Given the description of an element on the screen output the (x, y) to click on. 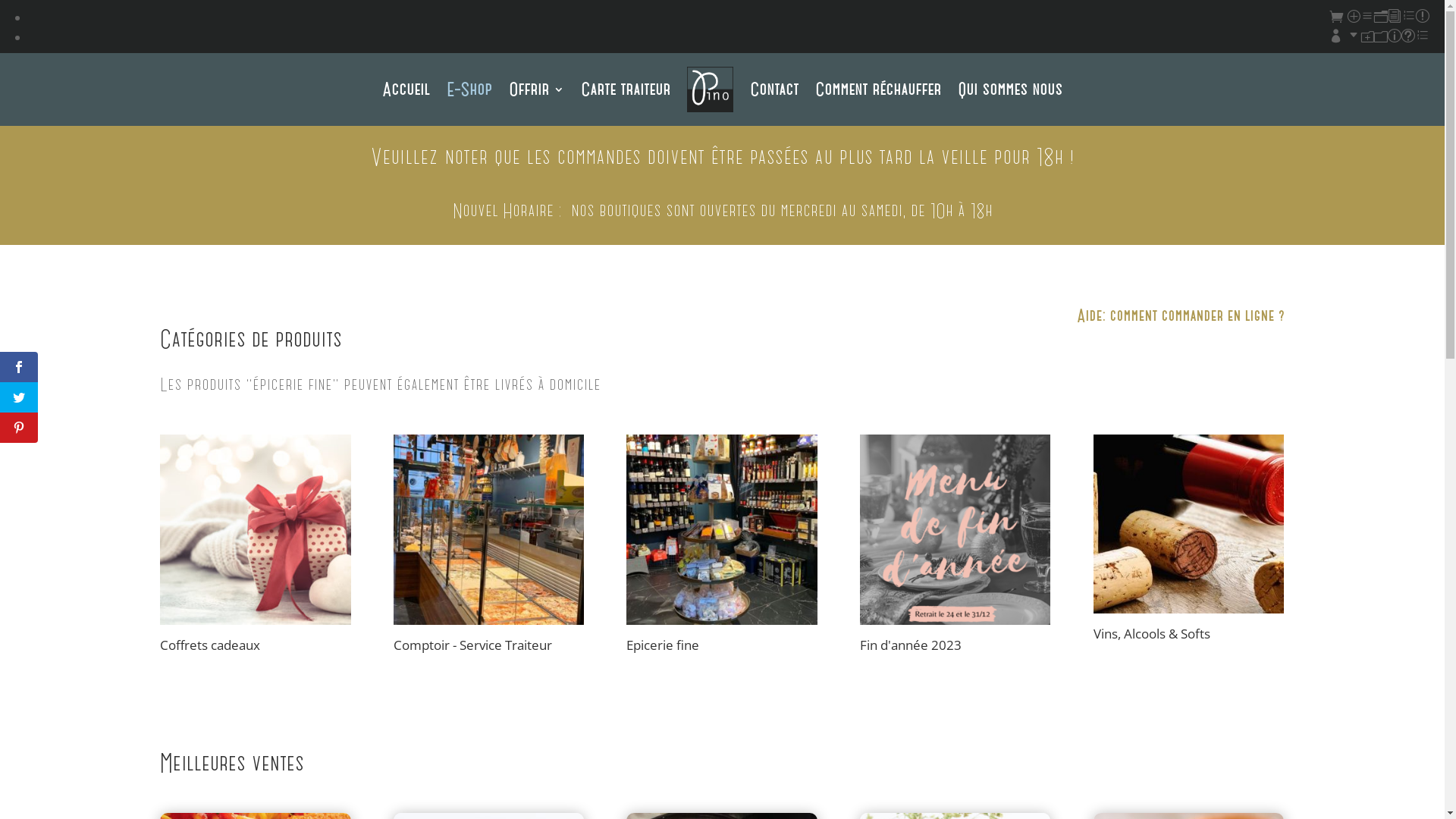
Carte traiteur Element type: text (625, 89)
Epicerie fine Element type: text (721, 545)
Vins, Alcools & Softs Element type: text (1188, 540)
Accueil Element type: text (405, 89)
Aide: comment commander en ligne ? Element type: text (1180, 315)
Coffrets cadeaux Element type: text (255, 545)
Qui sommes nous Element type: text (1009, 89)
E-Shop Element type: text (469, 89)
Offrir Element type: text (536, 89)
Comptoir - Service Traiteur Element type: text (488, 545)
Contact Element type: text (773, 89)
